Given the description of an element on the screen output the (x, y) to click on. 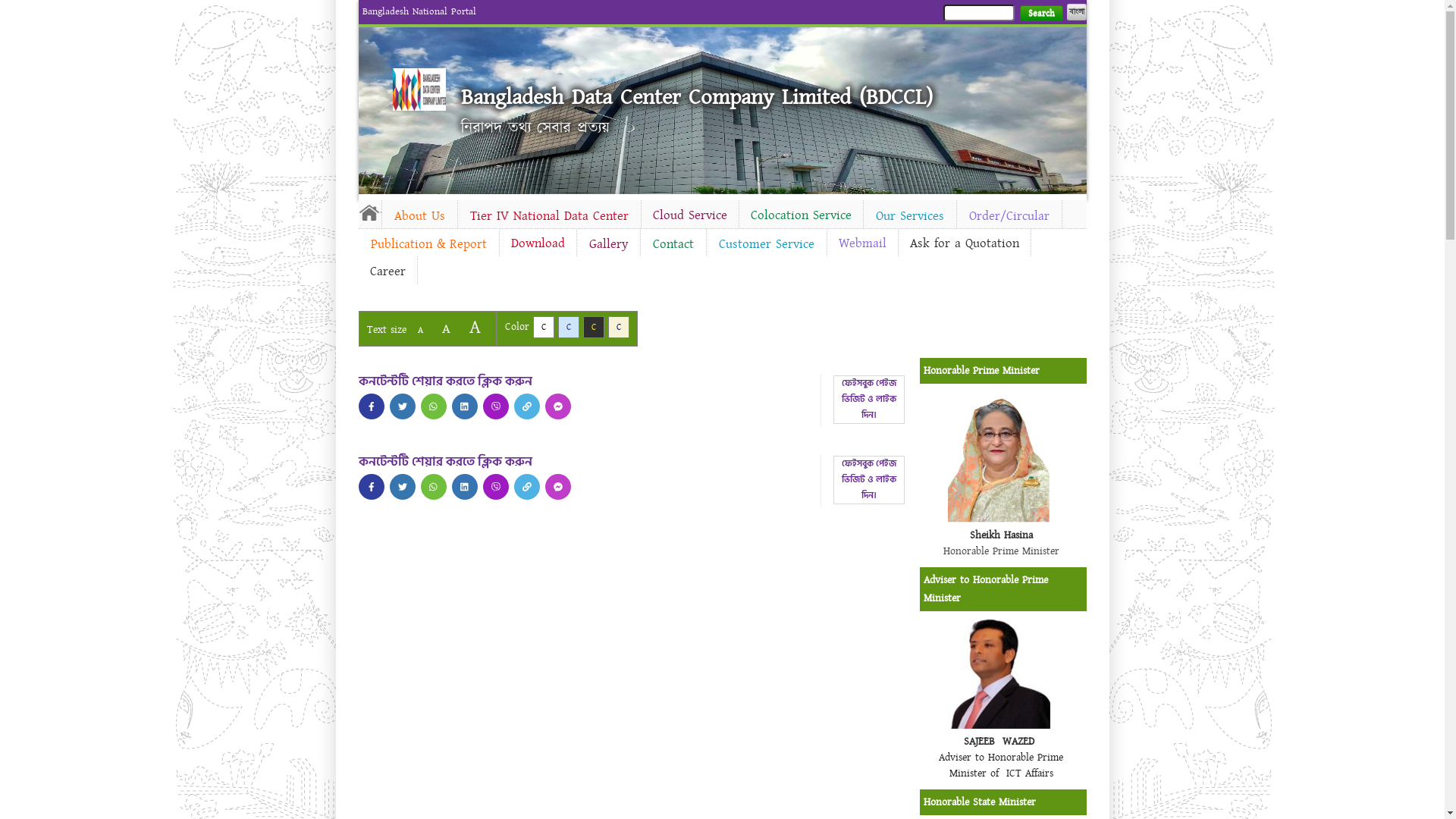
Publication & Report Element type: text (427, 244)
Webmail Element type: text (861, 243)
Colocation Service Element type: text (800, 215)
A Element type: text (419, 330)
Cloud Service Element type: text (689, 215)
Search Element type: text (1040, 13)
Download Element type: text (536, 243)
Home Element type: hover (418, 89)
Bangladesh National Portal Element type: text (419, 11)
C Element type: text (618, 327)
C Element type: text (592, 327)
Tier IV National Data Center Element type: text (549, 216)
Home Element type: hover (368, 211)
A Element type: text (445, 328)
C Element type: text (542, 327)
A Element type: text (474, 327)
Contact Element type: text (672, 244)
Gallery Element type: text (607, 244)
Order/Circular Element type: text (1009, 216)
Career Element type: text (386, 271)
Ask for a Quotation Element type: text (963, 243)
C Element type: text (568, 327)
Bangladesh Data Center Company Limited (BDCCL) Element type: text (696, 96)
About Us Element type: text (419, 216)
Customer Service Element type: text (766, 244)
Our Services Element type: text (908, 216)
